Given the description of an element on the screen output the (x, y) to click on. 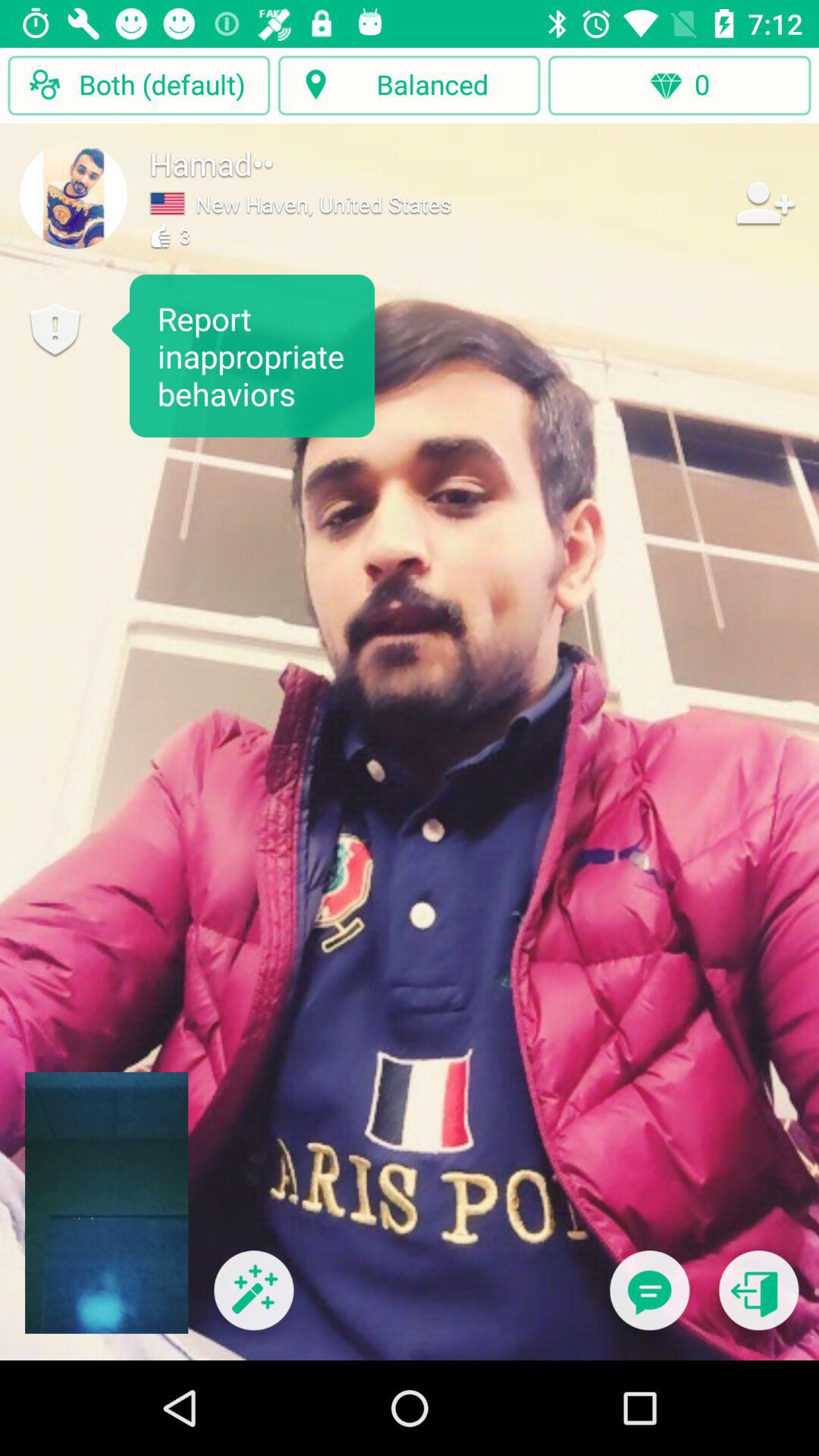
open keyboard (649, 1300)
